Given the description of an element on the screen output the (x, y) to click on. 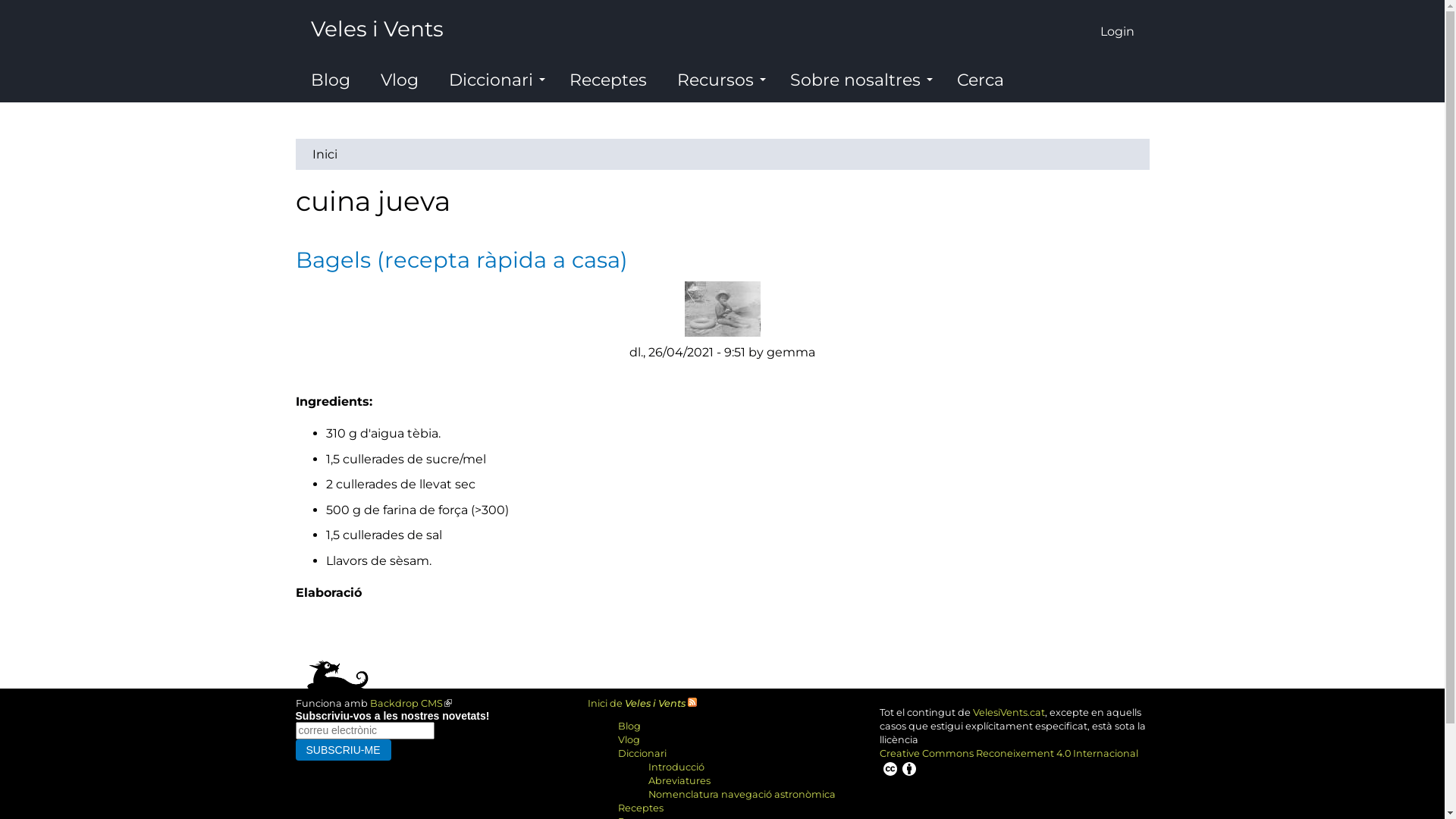
Creative Commons Reconeixement 4.0 Internacional Element type: text (1013, 762)
Diccionari Element type: text (642, 753)
Receptes Element type: text (640, 807)
Syndicated feed for front page Element type: hover (691, 703)
Login Element type: text (1116, 25)
Sobre nosaltres Element type: text (858, 79)
Blog Element type: text (629, 725)
Blog Element type: text (330, 79)
Vlog Element type: text (399, 79)
Inici Element type: text (324, 154)
Abreviatures Element type: text (679, 780)
Veles i Vents Element type: text (376, 25)
VelesiVents.cat Element type: text (1008, 712)
Inici de Veles i Vents Element type: text (636, 703)
Diccionari Element type: text (493, 79)
Recursos Element type: text (717, 79)
Receptes Element type: text (607, 79)
Subscriu-me Element type: text (343, 748)
Vlog Element type: text (629, 739)
Cerca Element type: text (980, 79)
Backdrop CMS
(link is external) Element type: text (410, 703)
imatge de gemma Element type: hover (721, 308)
